Given the description of an element on the screen output the (x, y) to click on. 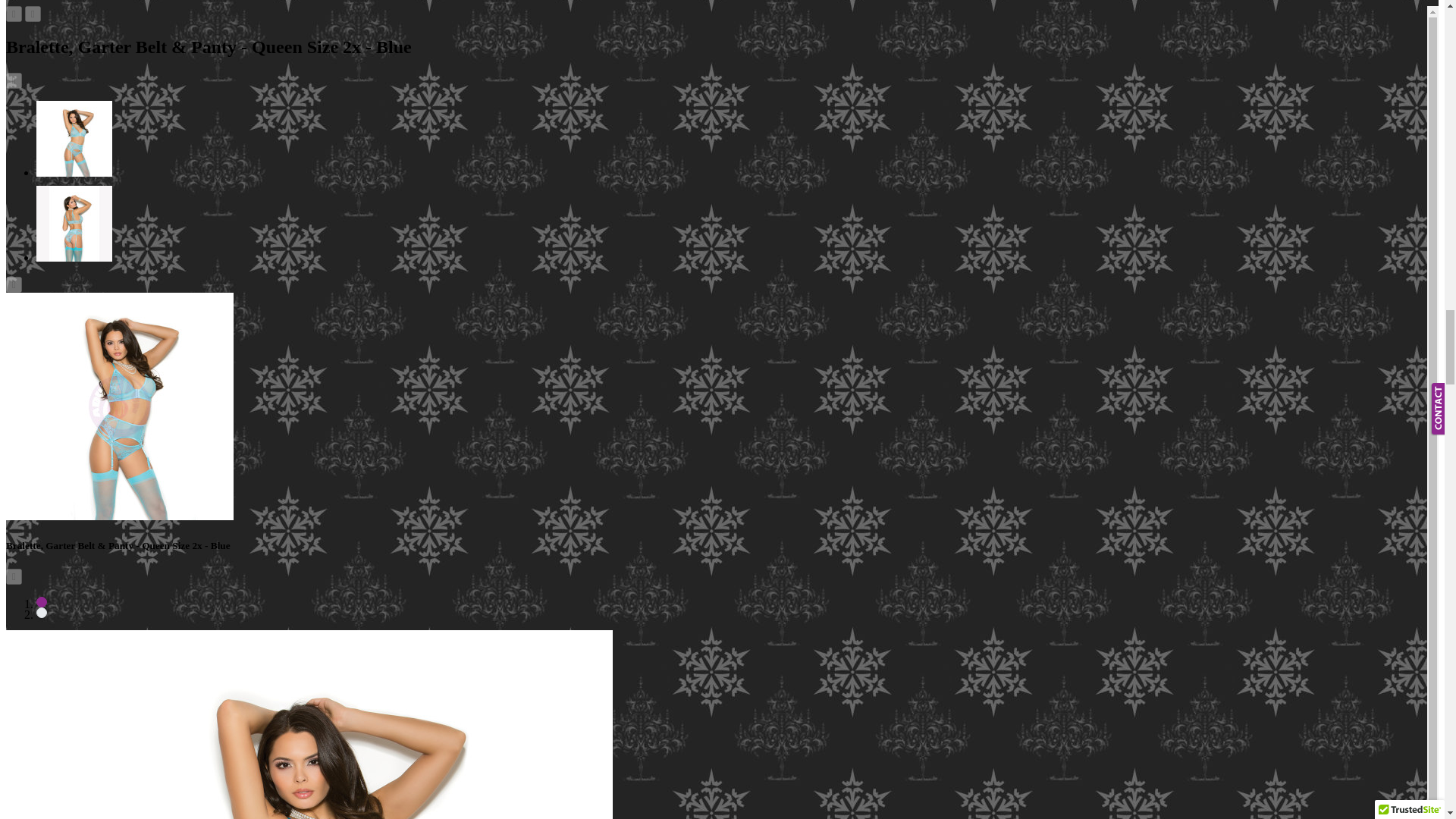
Add to Wish List (13, 13)
Compare this Product (32, 13)
